Given the description of an element on the screen output the (x, y) to click on. 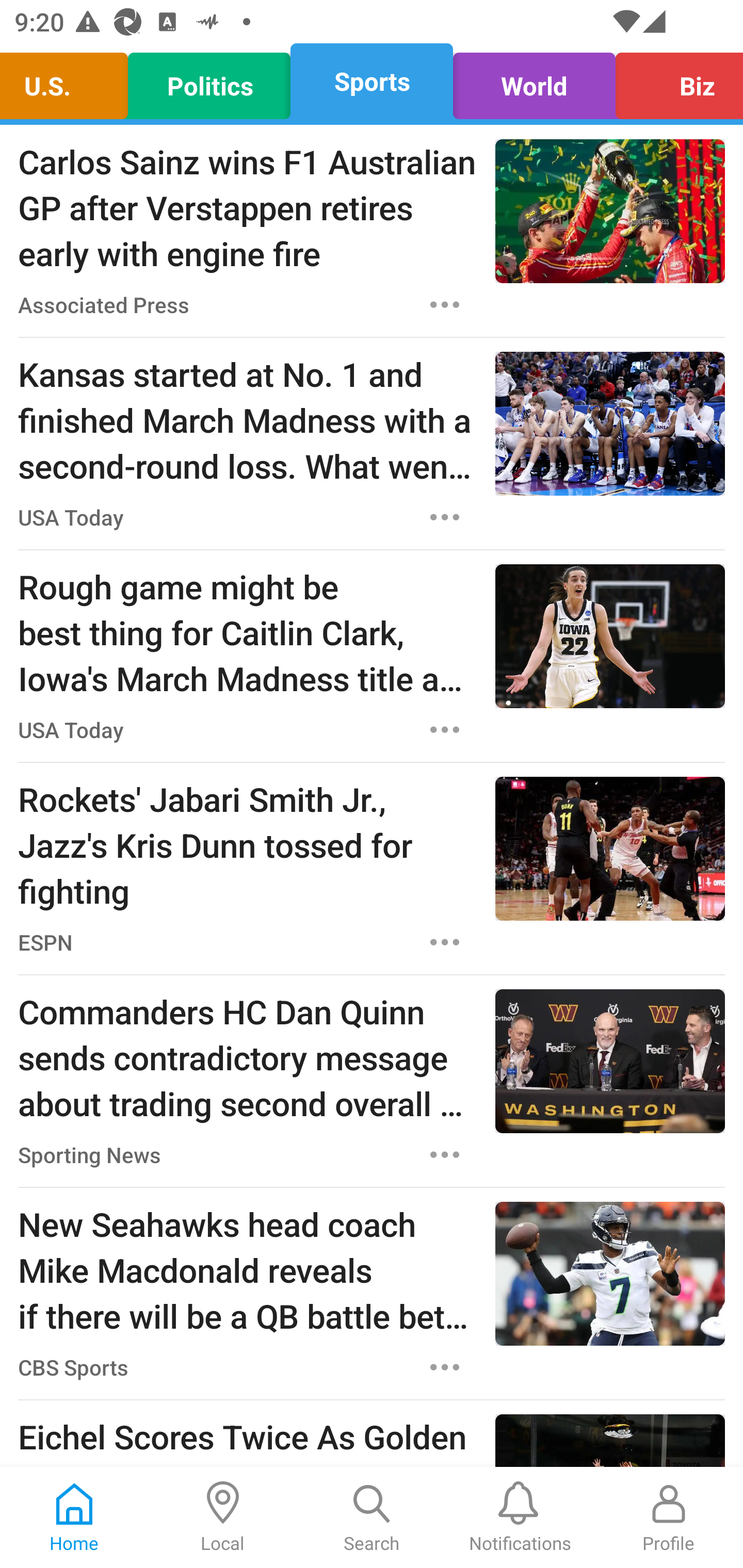
U.S. (69, 81)
Politics (209, 81)
Sports (371, 81)
World (534, 81)
Biz (673, 81)
Options (444, 304)
Options (444, 517)
Options (444, 729)
Options (444, 942)
Options (444, 1154)
Options (444, 1367)
Local (222, 1517)
Search (371, 1517)
Notifications (519, 1517)
Profile (668, 1517)
